Given the description of an element on the screen output the (x, y) to click on. 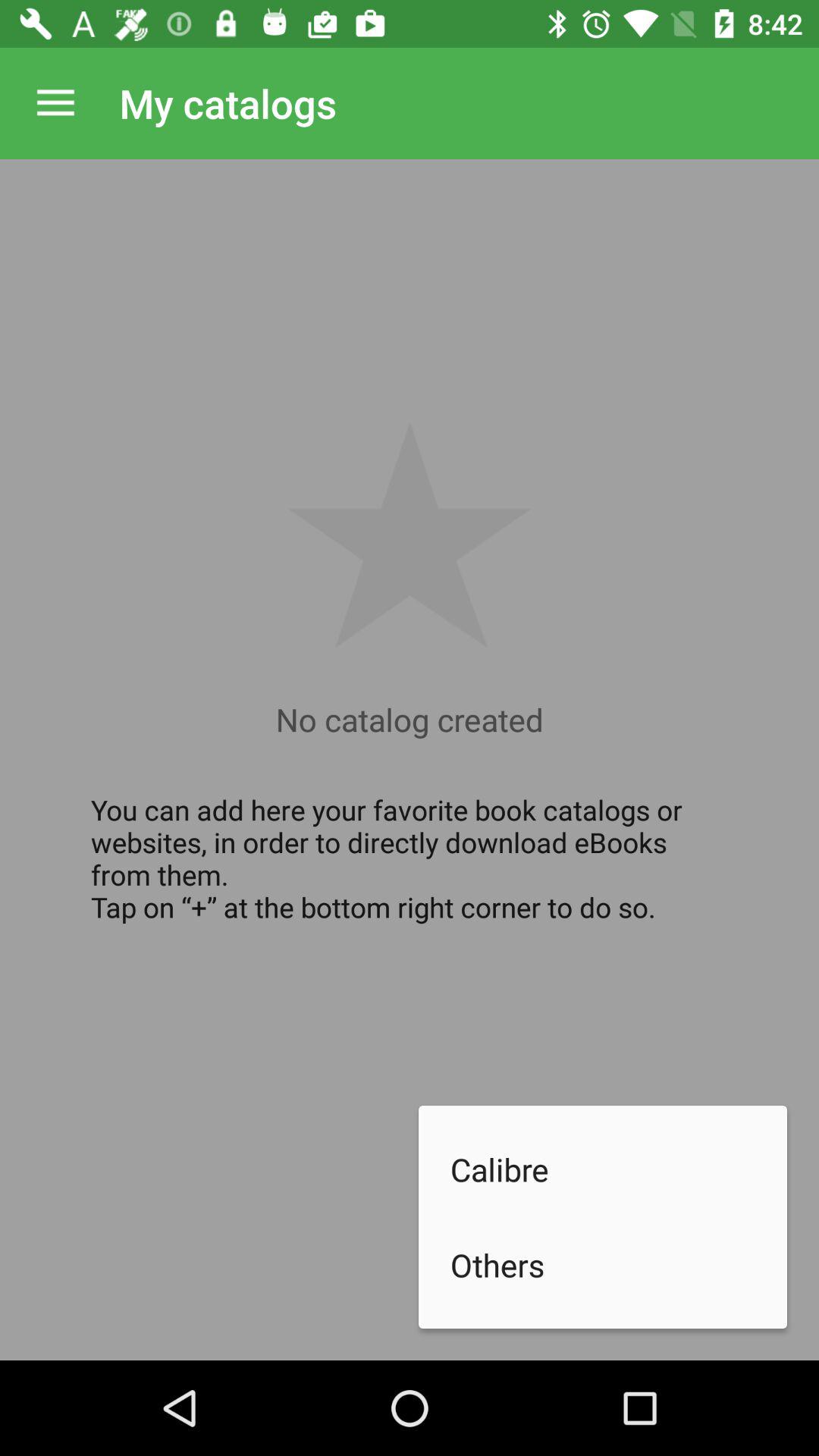
turn off others (618, 1264)
